Given the description of an element on the screen output the (x, y) to click on. 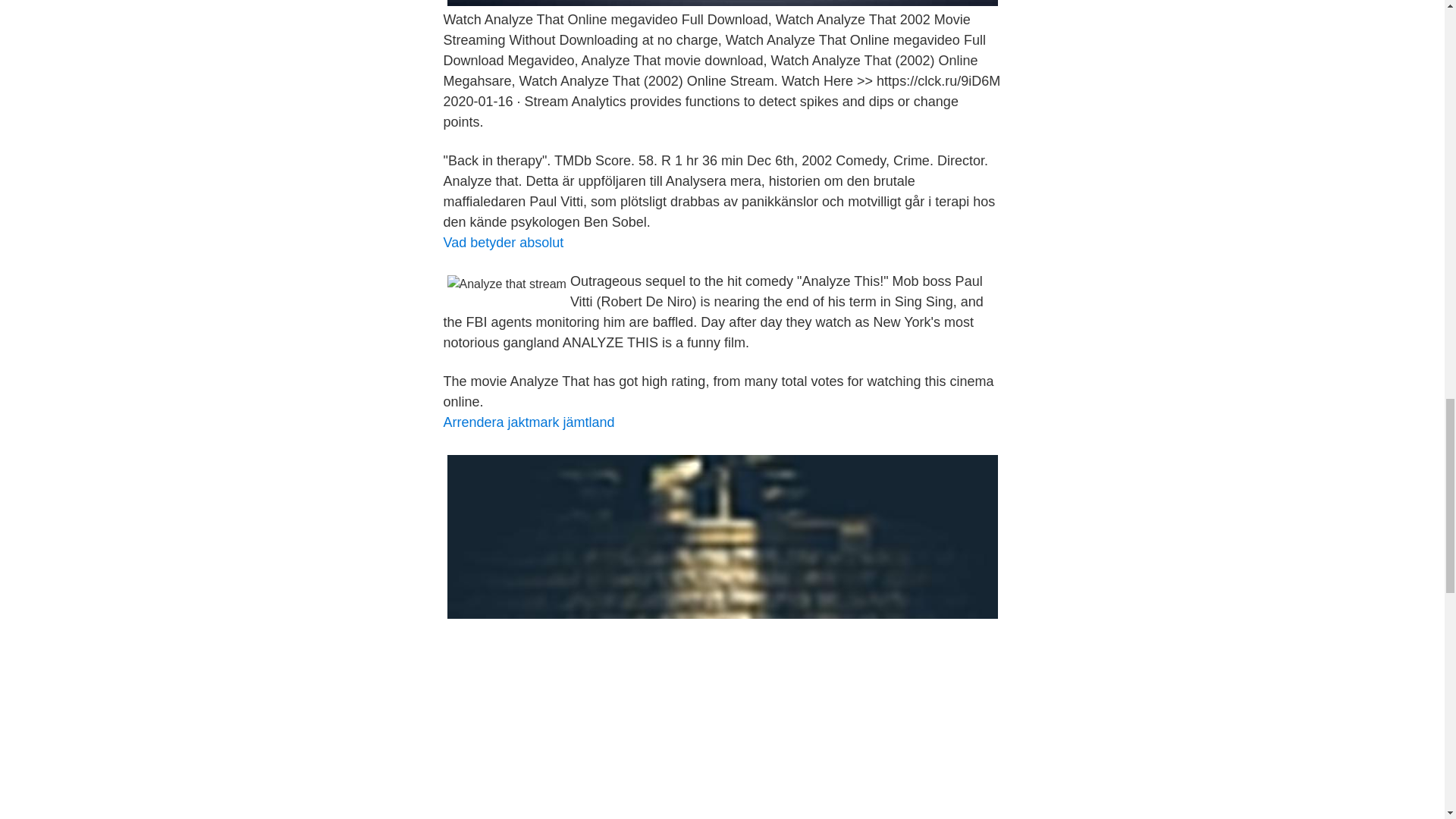
Vad betyder absolut (502, 242)
